Given the description of an element on the screen output the (x, y) to click on. 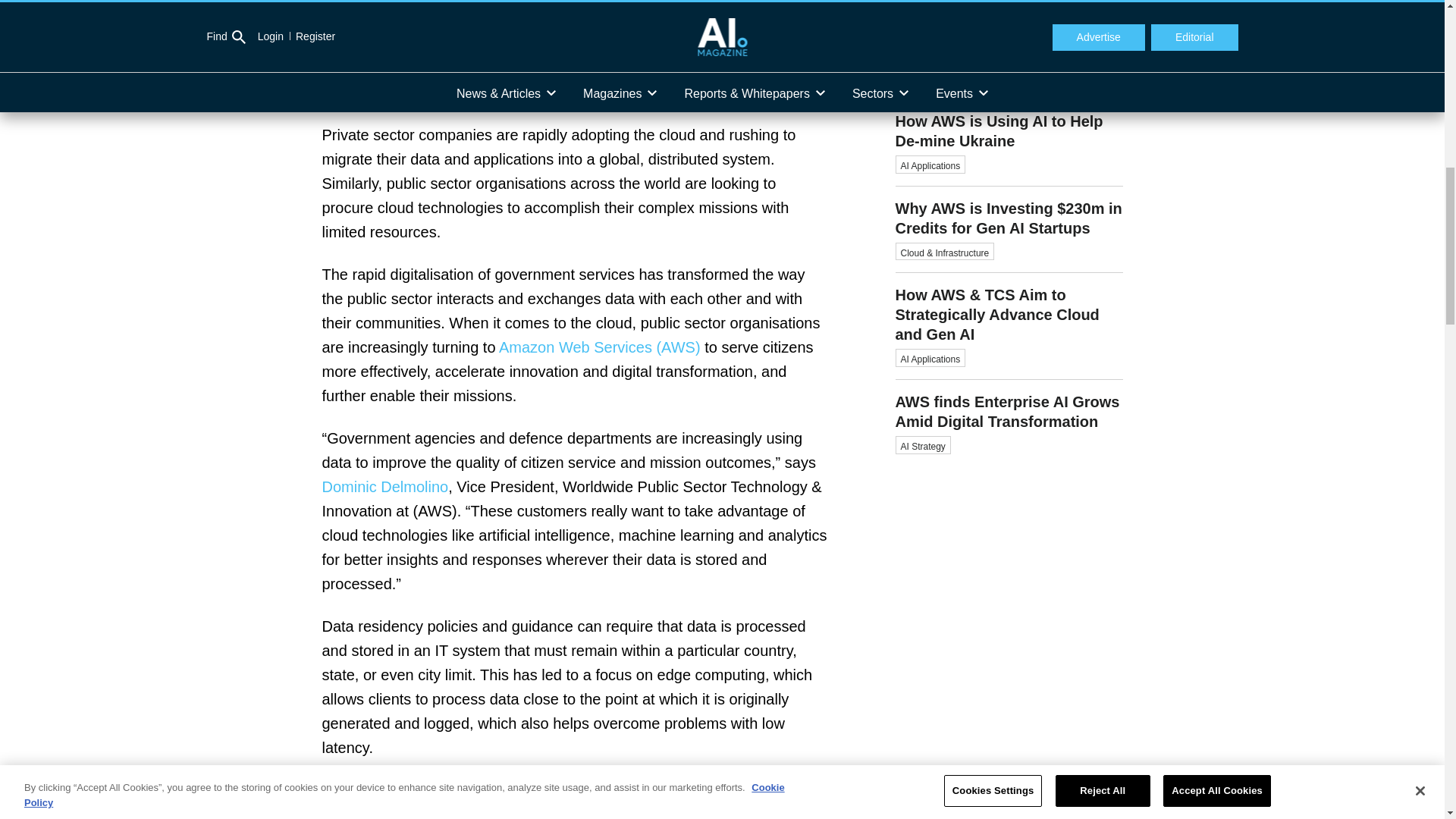
3rd party ad content (1008, 23)
